Given the description of an element on the screen output the (x, y) to click on. 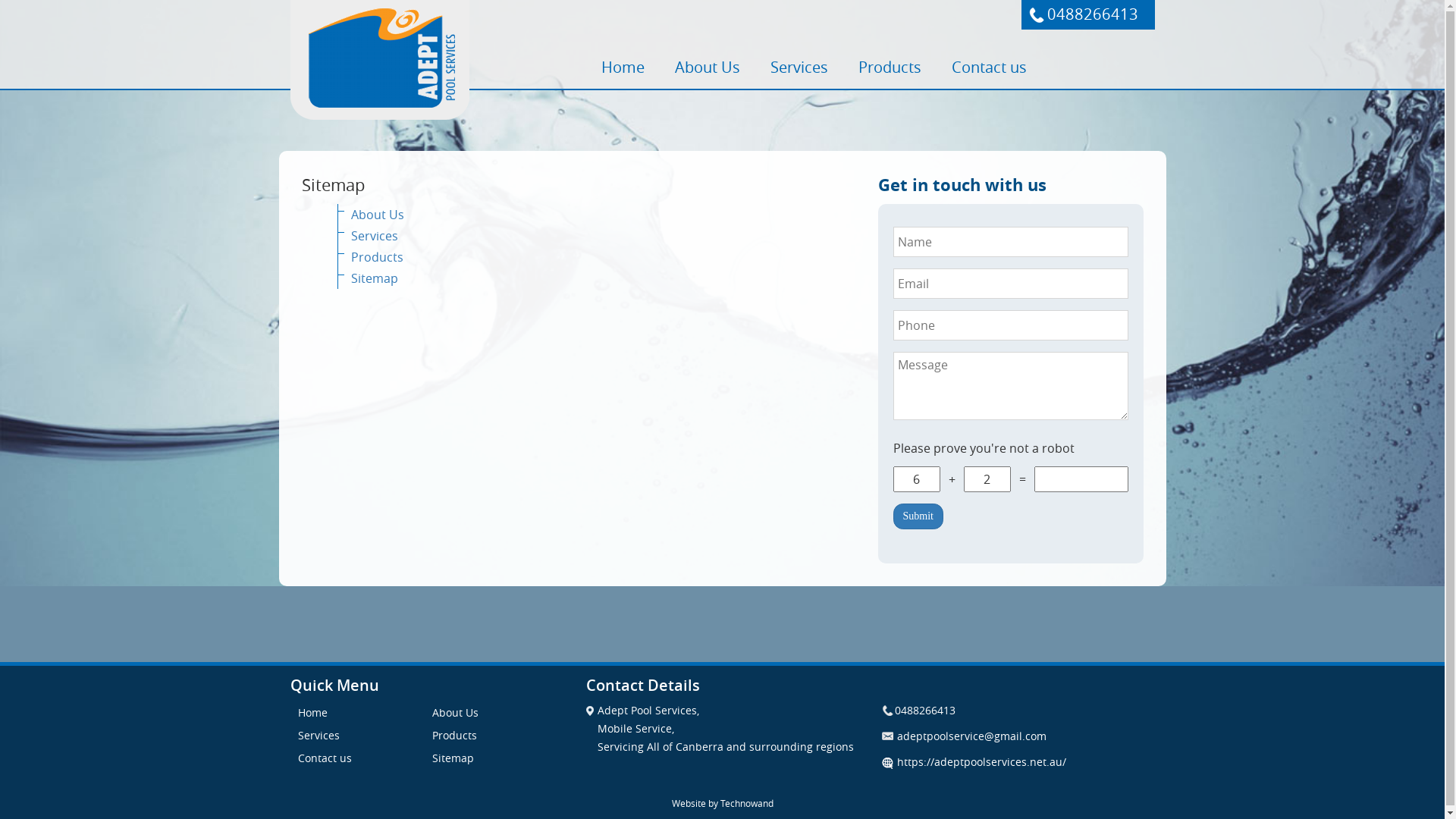
Contact us Element type: text (324, 757)
Services Element type: text (373, 235)
About Us Element type: text (376, 214)
Services Element type: text (317, 735)
Website by Technowand Element type: text (721, 802)
Home Element type: text (311, 712)
About Us Element type: text (455, 712)
Home Element type: text (621, 67)
Sitemap Element type: text (452, 757)
Products Element type: text (376, 256)
Contact us Element type: text (988, 67)
Products Element type: text (454, 735)
Products Element type: text (889, 67)
0488266413 Element type: text (917, 709)
Services Element type: text (799, 67)
Submit Element type: text (918, 516)
https://adeptpoolservices.net.au/ Element type: text (1017, 762)
About Us Element type: text (707, 67)
adeptpoolservice@gmail.com Element type: text (963, 735)
Sitemap Element type: text (373, 277)
